Given the description of an element on the screen output the (x, y) to click on. 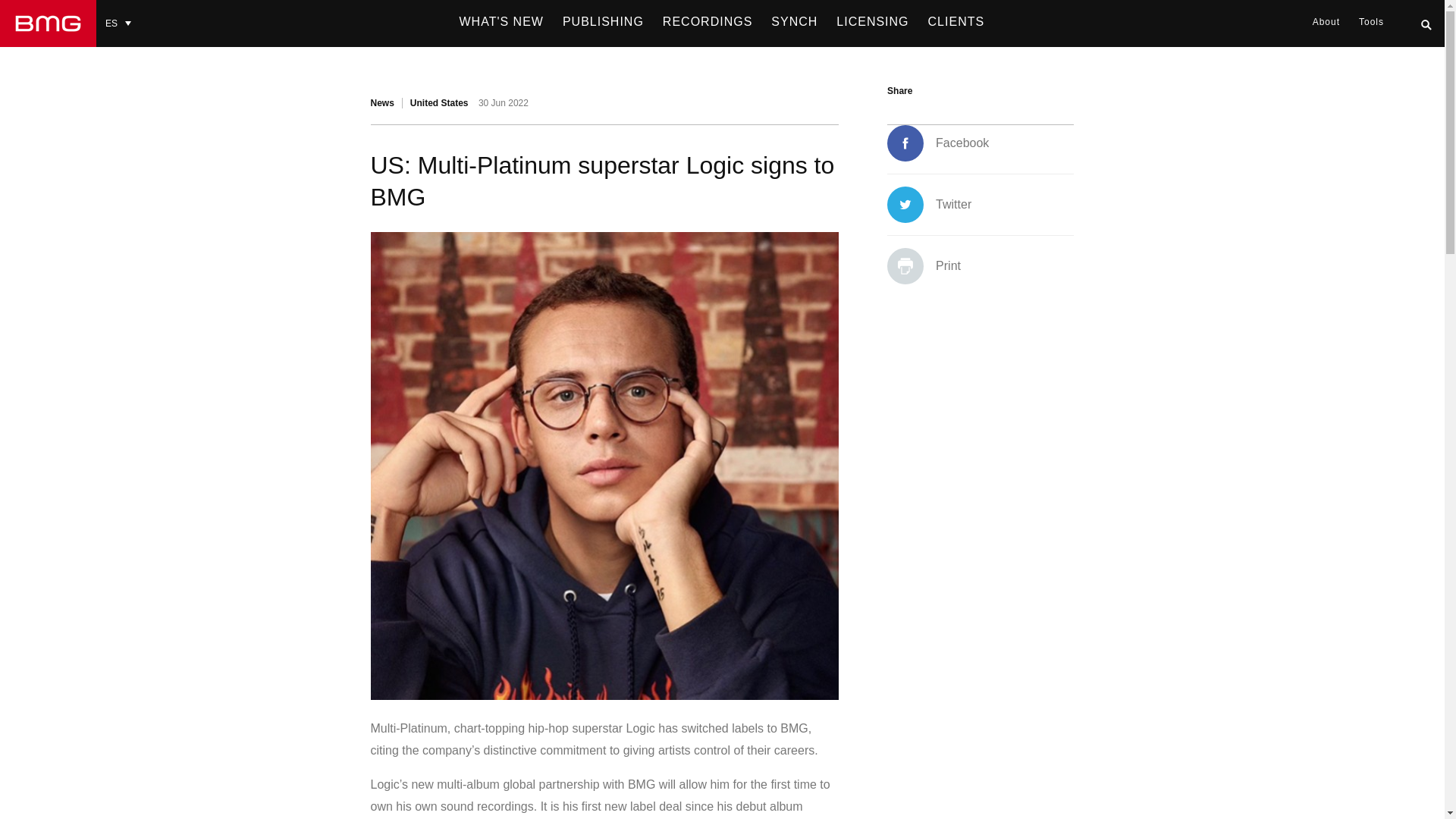
Print (923, 266)
PUBLISHING (602, 22)
SYNCH (794, 22)
Tools (1371, 22)
Twitter (928, 204)
Facebook (937, 143)
LICENSING (872, 22)
RECORDINGS (707, 22)
WHAT'S NEW (501, 22)
About (1326, 22)
